Given the description of an element on the screen output the (x, y) to click on. 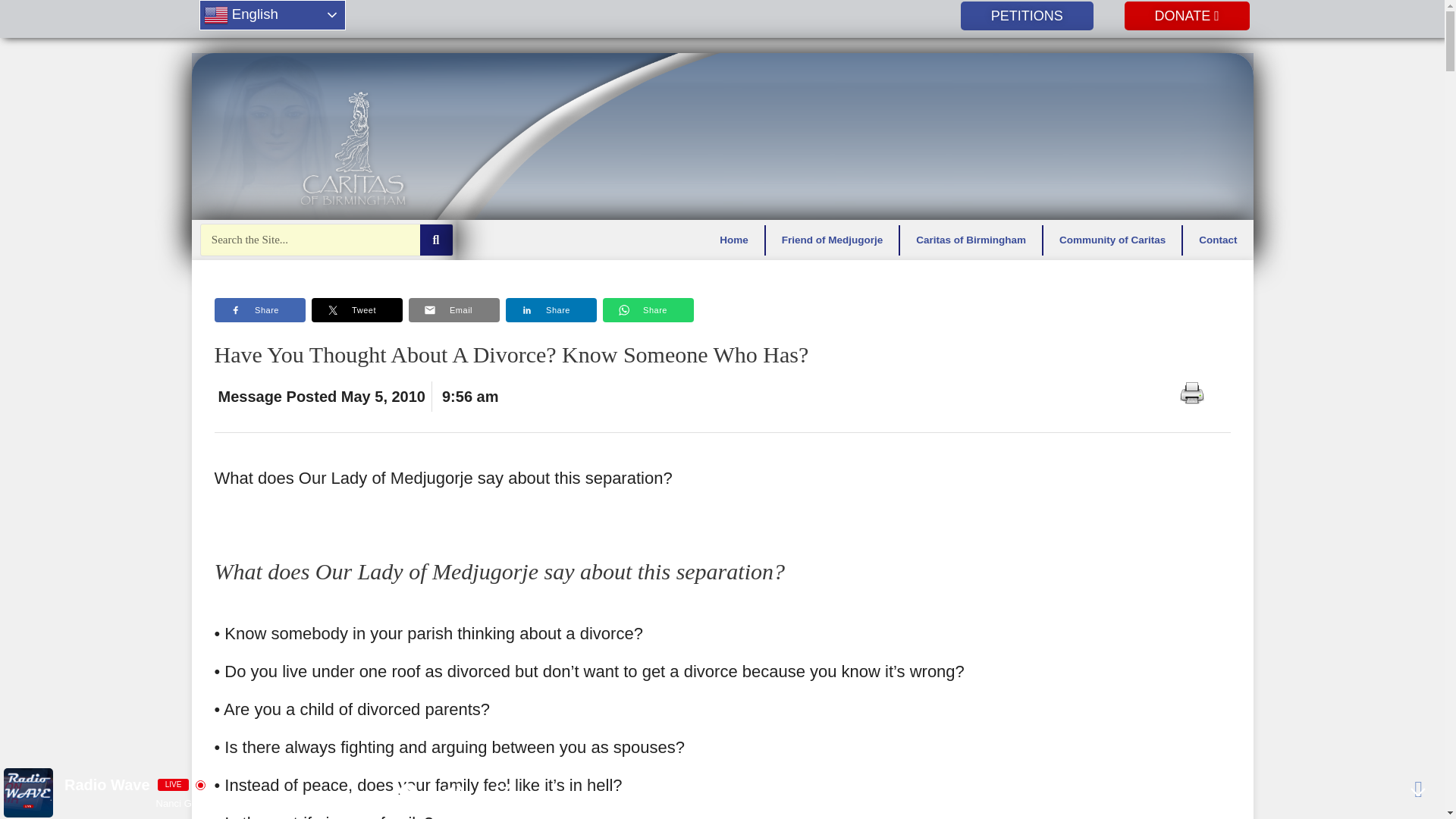
Home (733, 239)
Friend of Medjugorje (832, 239)
DONATE (1186, 15)
English (271, 15)
PETITIONS (1026, 15)
Caritas of Birmingham (970, 239)
